Given the description of an element on the screen output the (x, y) to click on. 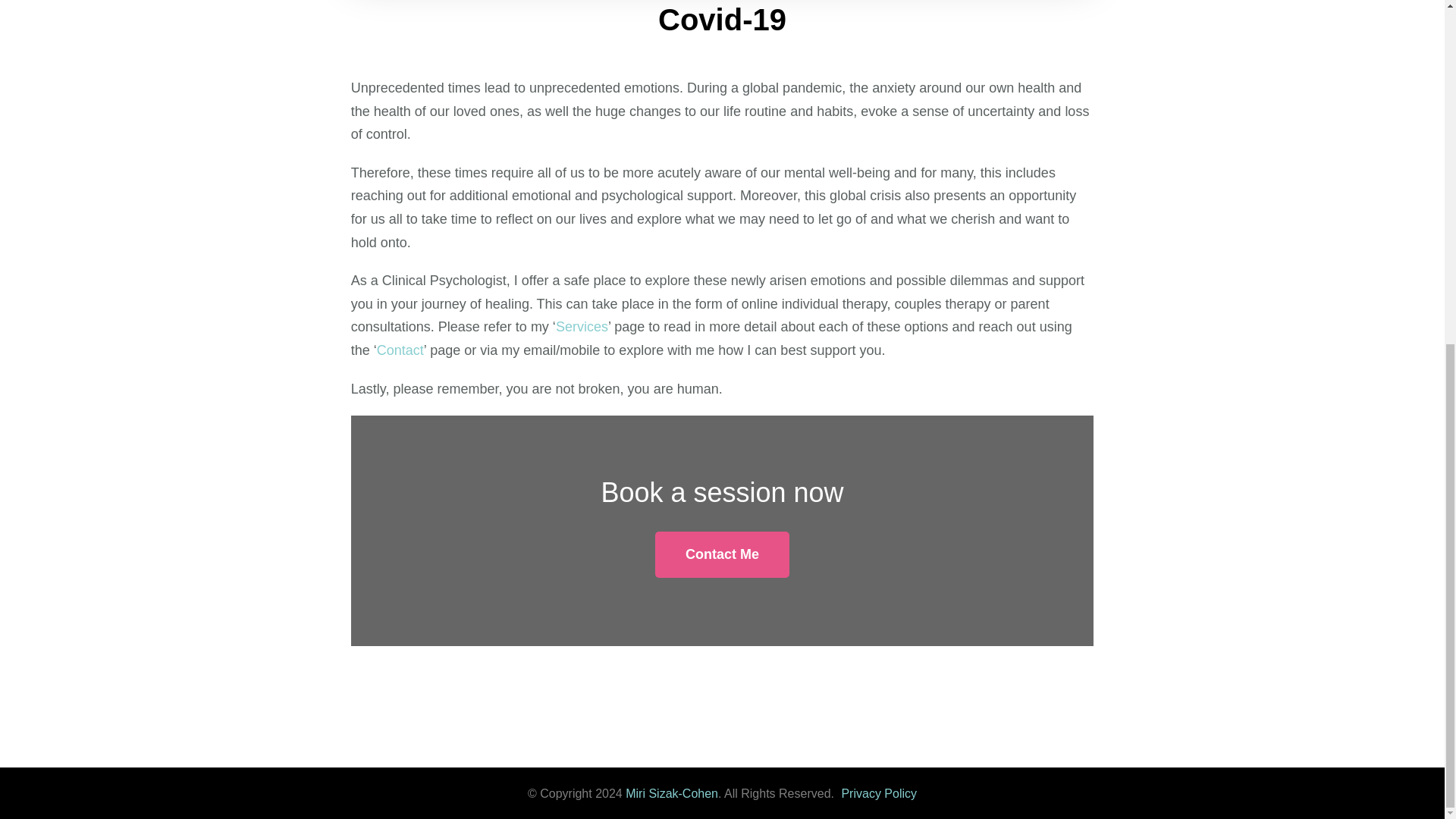
Privacy Policy (879, 793)
Contact (400, 350)
Contact Me (722, 554)
Services (582, 326)
Miri Sizak-Cohen (671, 793)
